Given the description of an element on the screen output the (x, y) to click on. 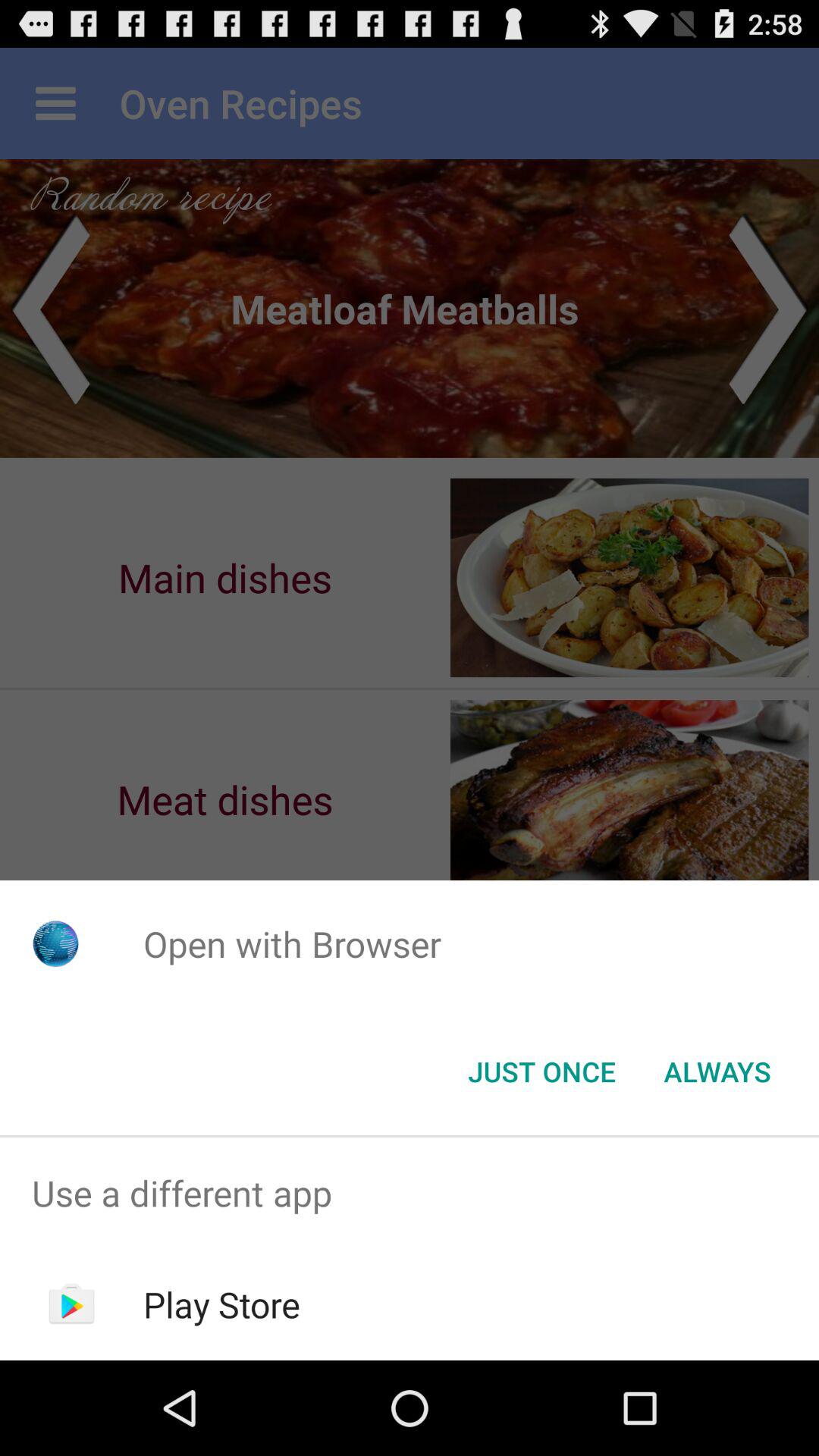
choose the item next to always (541, 1071)
